Given the description of an element on the screen output the (x, y) to click on. 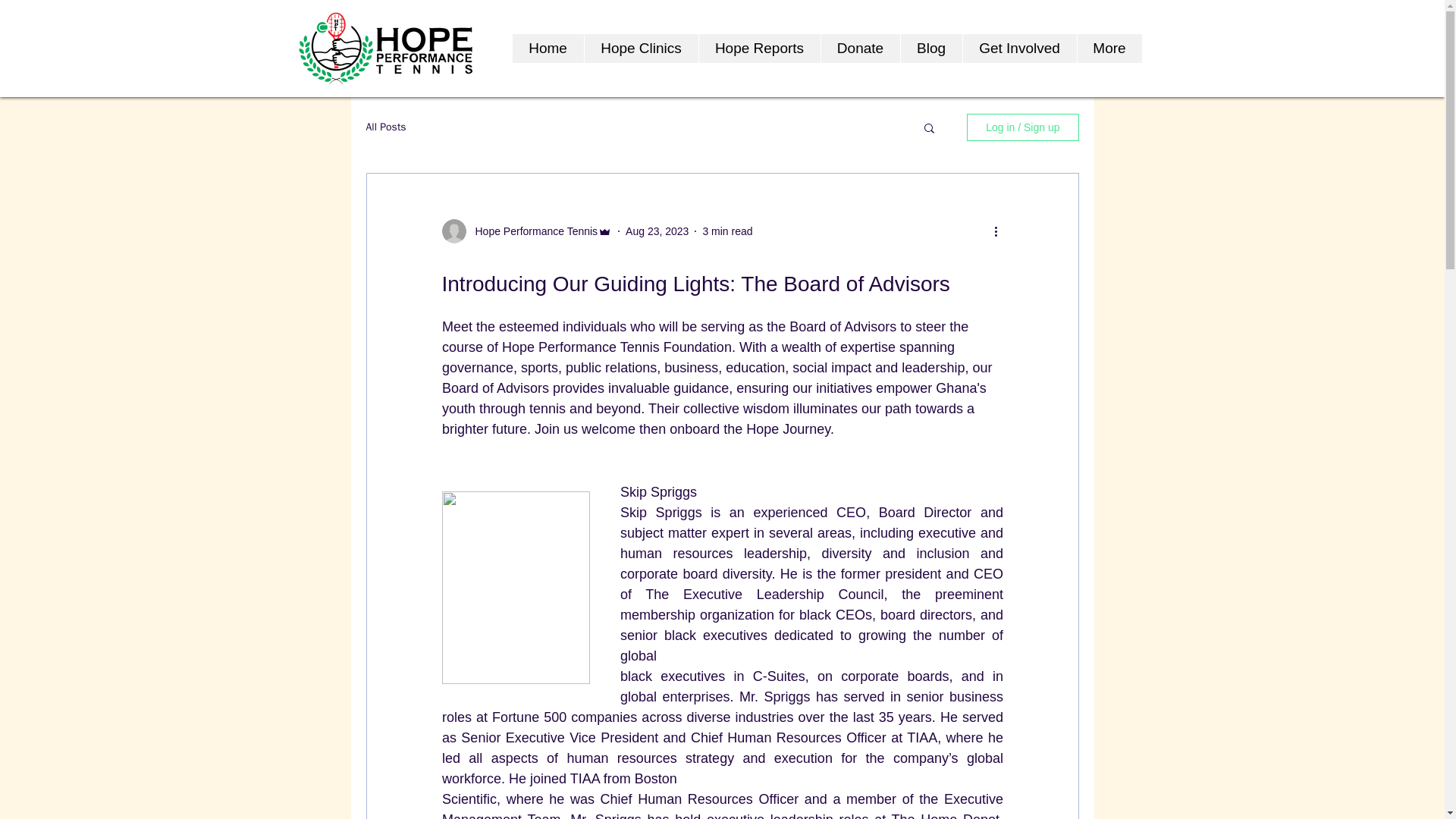
Hope Performance Tennis (530, 230)
3 min read (726, 230)
Home (547, 48)
Hope Reports (758, 48)
Donate (860, 48)
Aug 23, 2023 (657, 230)
Get Involved (1017, 48)
All Posts (385, 127)
Blog (929, 48)
